Given the description of an element on the screen output the (x, y) to click on. 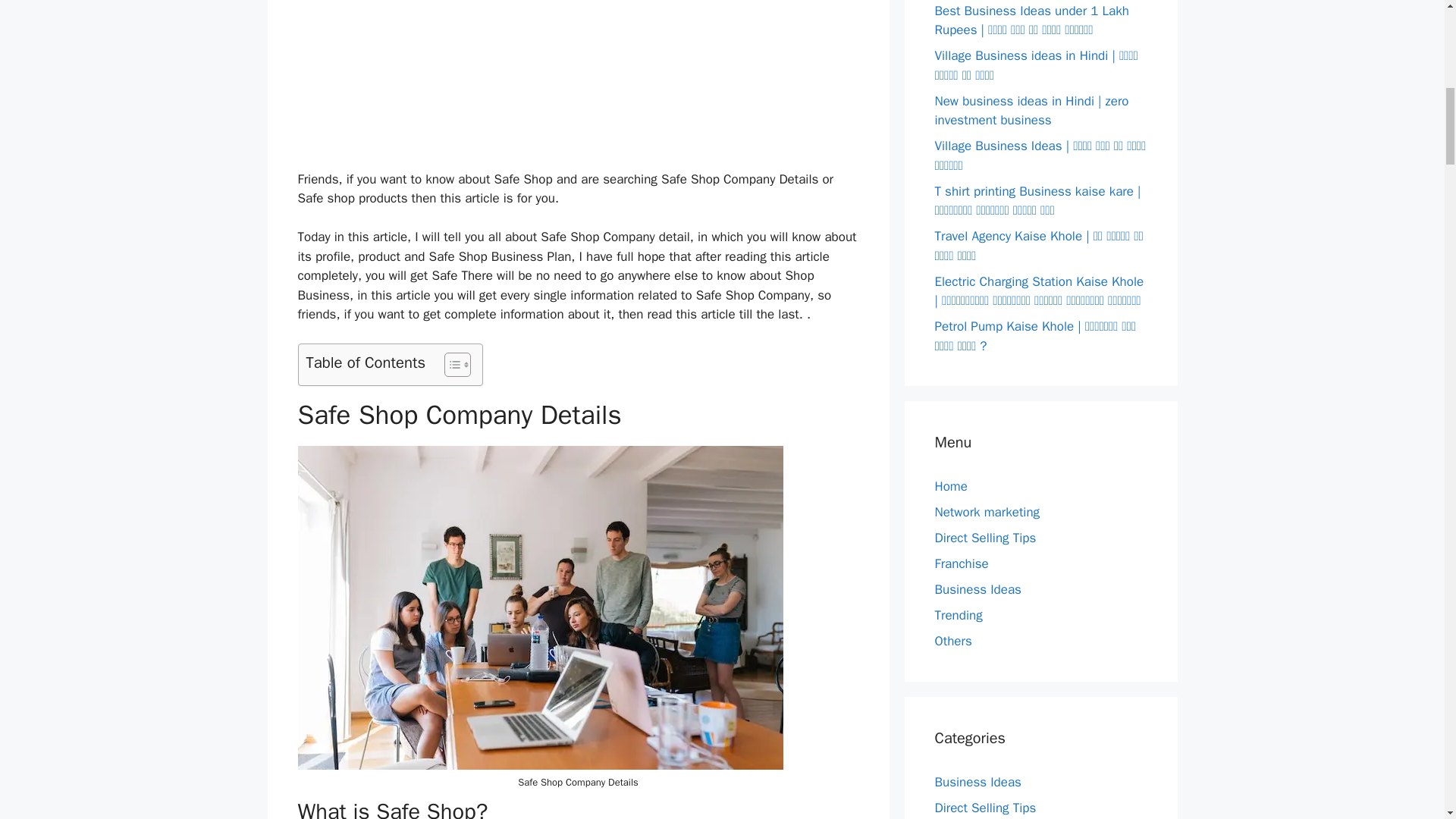
Advertisement (578, 81)
